Given the description of an element on the screen output the (x, y) to click on. 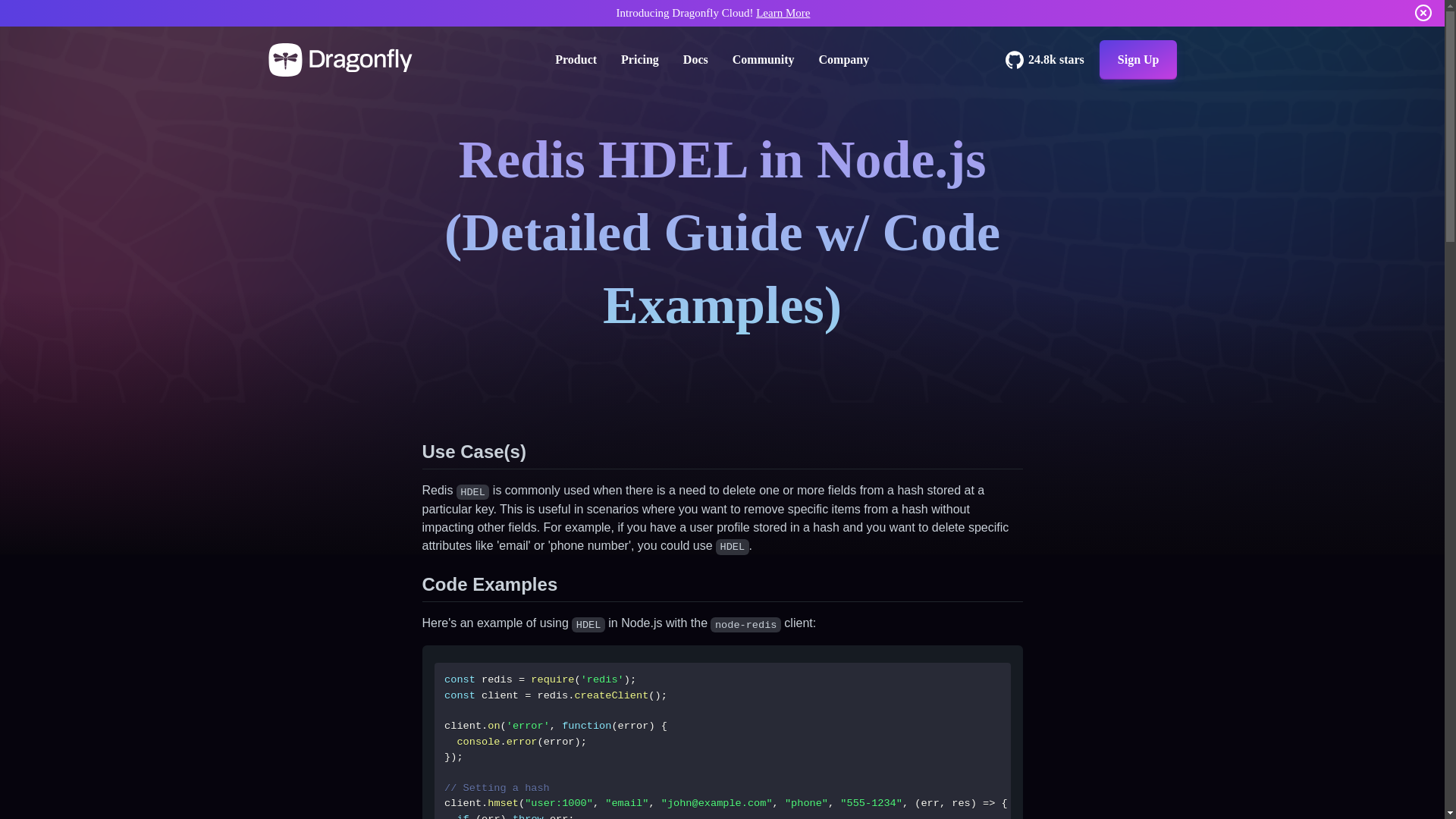
24.8k stars (1045, 59)
Company (843, 59)
Sign Up (1138, 59)
Pricing (640, 59)
Product (575, 59)
Community (763, 59)
Learn More (782, 12)
